Given the description of an element on the screen output the (x, y) to click on. 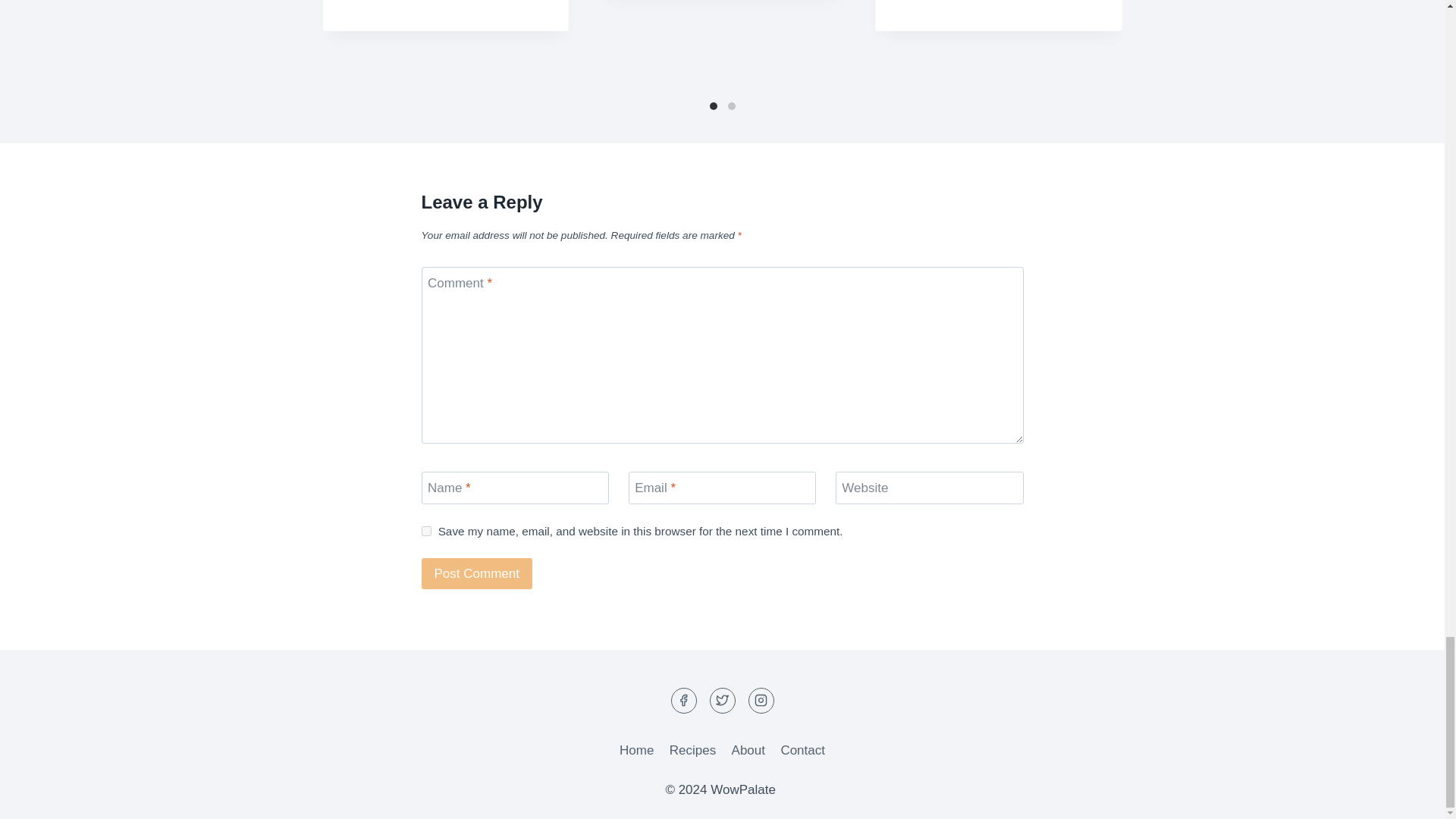
Post Comment (477, 572)
yes (426, 531)
